Given the description of an element on the screen output the (x, y) to click on. 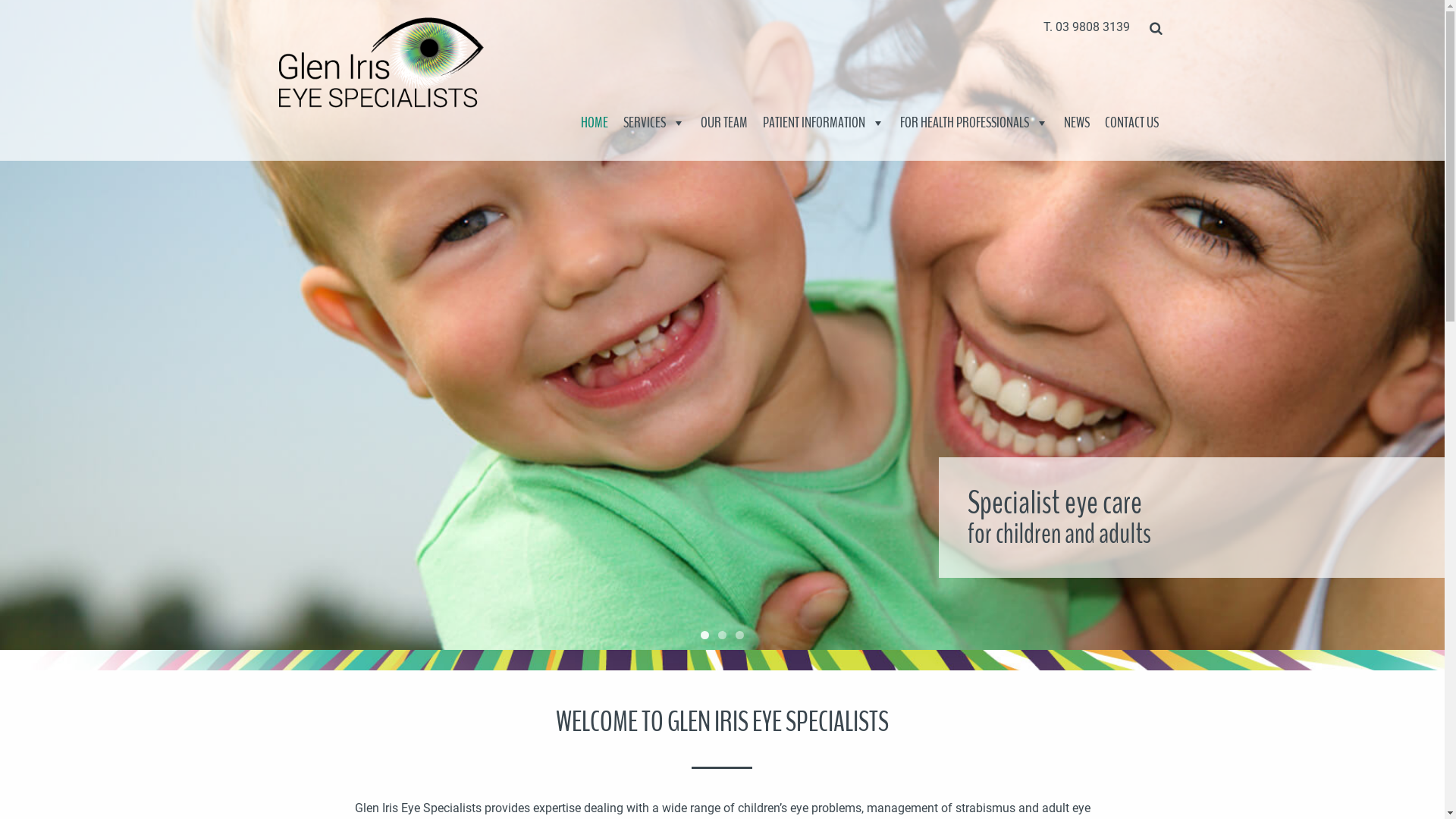
3 Element type: text (739, 634)
FOR HEALTH PROFESSIONALS Element type: text (973, 122)
HOME Element type: text (594, 122)
03 9808 3139 Element type: text (1092, 26)
SERVICES Element type: text (654, 122)
2 Element type: text (722, 634)
PATIENT INFORMATION Element type: text (823, 122)
OUR TEAM Element type: text (724, 122)
NEWS Element type: text (1075, 122)
1 Element type: text (704, 634)
CONTACT US Element type: text (1130, 122)
